Given the description of an element on the screen output the (x, y) to click on. 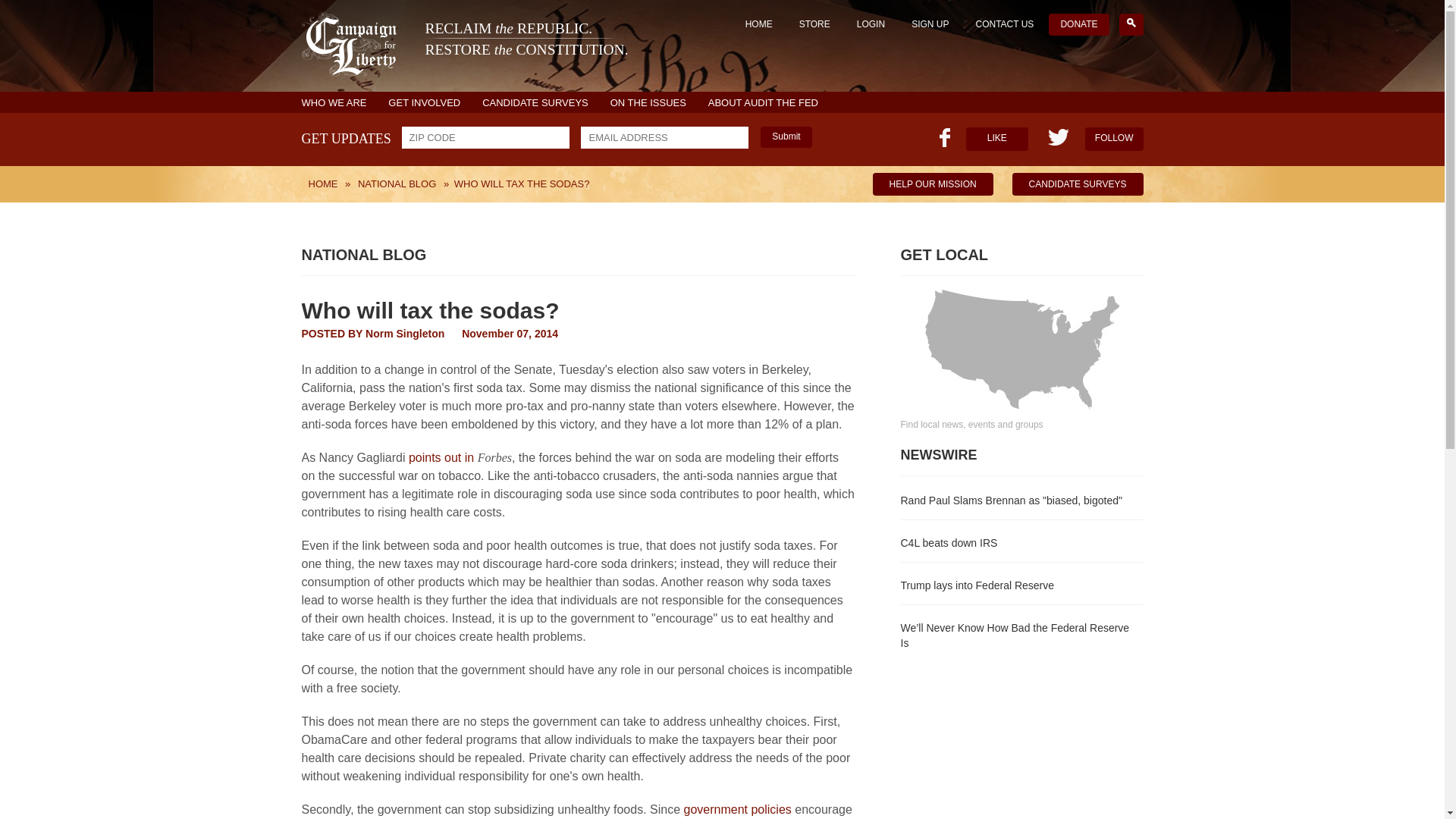
NATIONAL BLOG (396, 183)
Norm Singleton (404, 333)
HELP OUR MISSION (932, 183)
Submit (785, 137)
ON THE ISSUES (647, 102)
GET INVOLVED (424, 102)
government policies (735, 809)
STORE (464, 50)
HOME (814, 24)
